Given the description of an element on the screen output the (x, y) to click on. 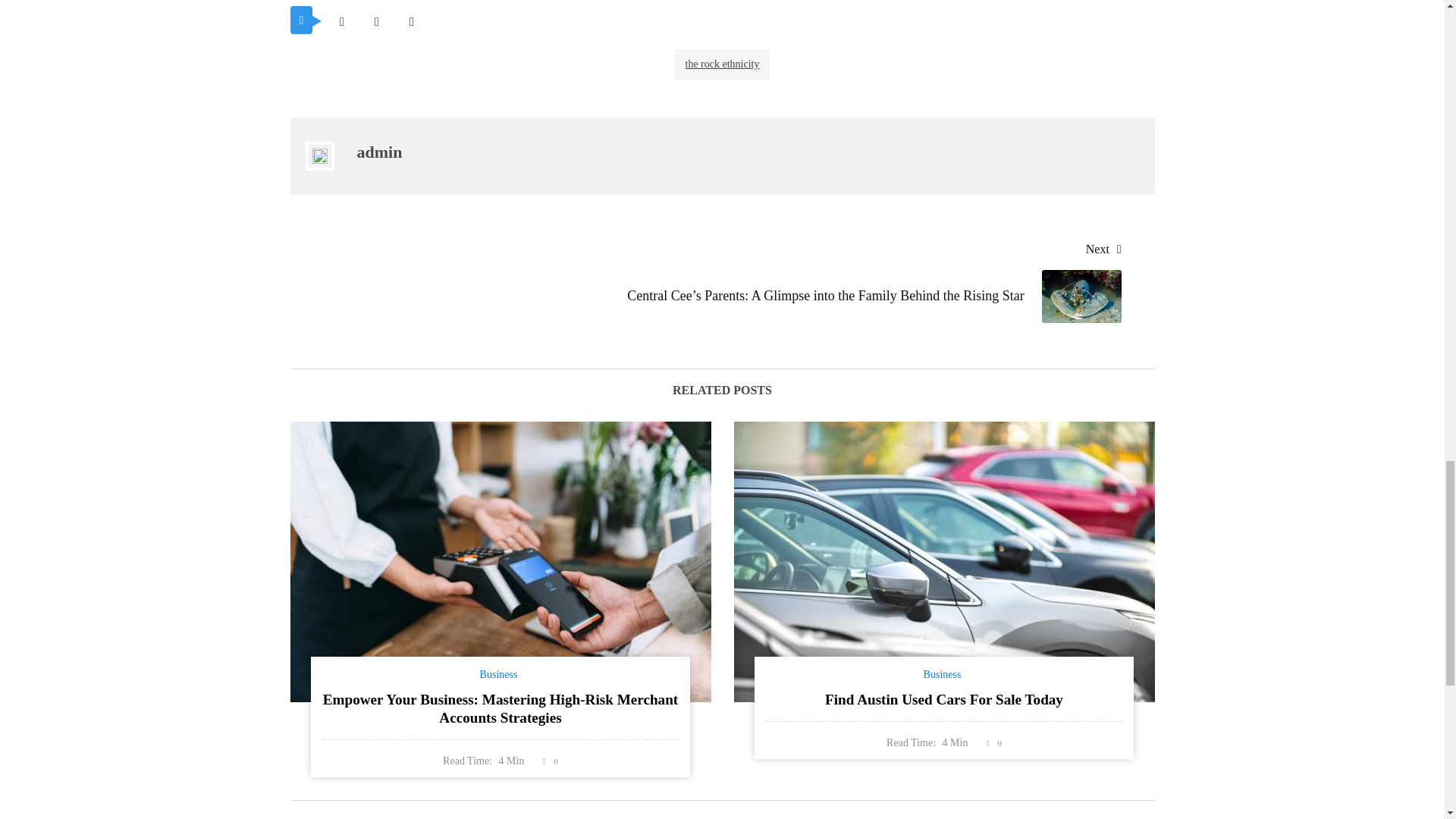
Tweet This! (342, 21)
Share on Linkedin (411, 21)
Share on Facebook (376, 21)
